Given the description of an element on the screen output the (x, y) to click on. 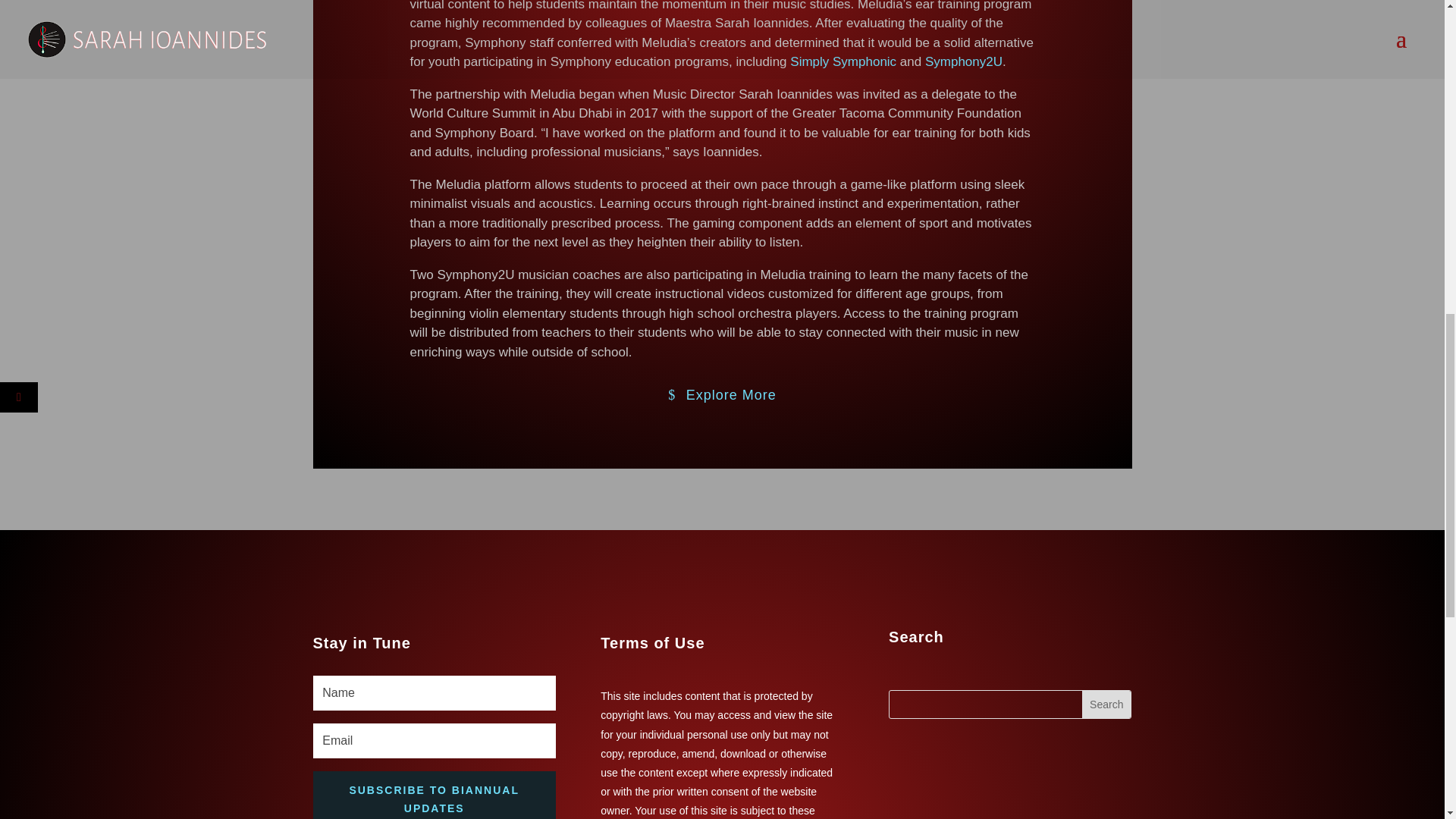
Simply Symphonic (843, 61)
Symphony2U (963, 61)
Search (1106, 704)
SUBSCRIBE TO BIANNUAL UPDATES (433, 795)
Explore More (722, 394)
Search (1106, 704)
Search (1106, 704)
